Given the description of an element on the screen output the (x, y) to click on. 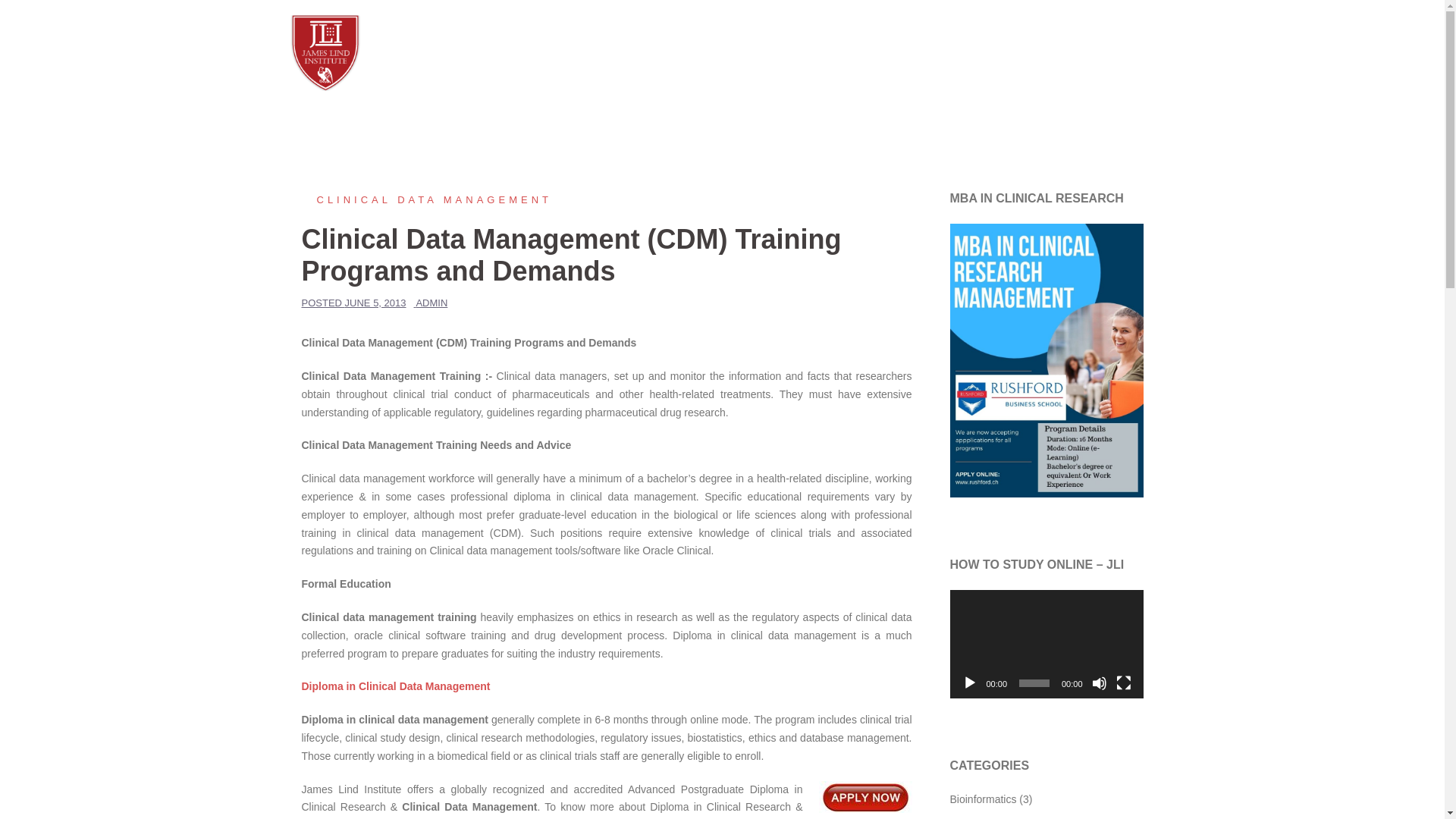
Mute (1099, 683)
Programs (1036, 53)
Fullscreen (1123, 683)
Clinical Data Management (426, 199)
Register Now (1111, 53)
Diploma in Clinical Data Management (395, 686)
JLI Main Website (884, 53)
Bioinformatics (982, 799)
Play (968, 683)
JLI Blog (324, 51)
